Given the description of an element on the screen output the (x, y) to click on. 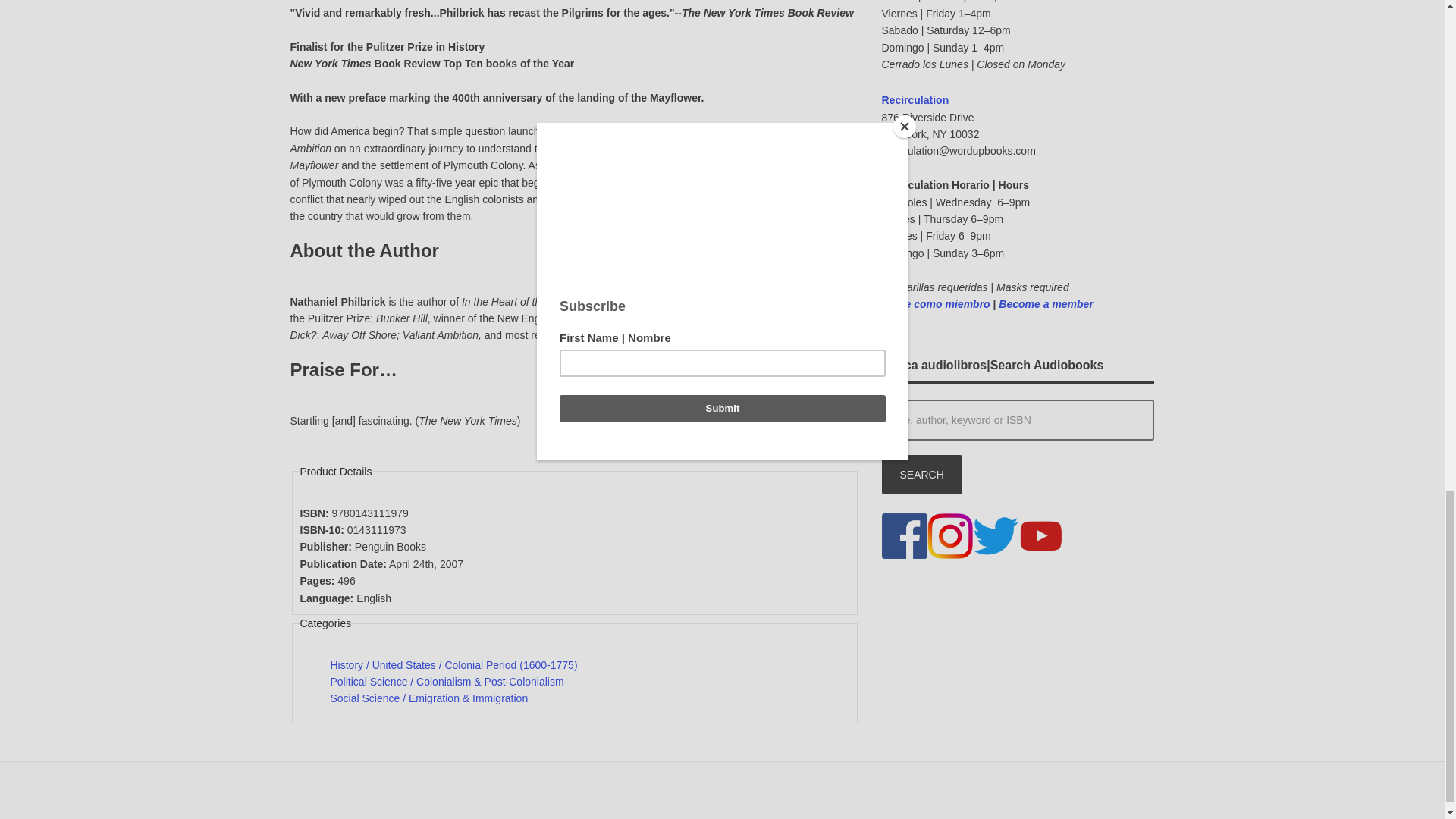
title, author, keyword or ISBN (1017, 419)
Search (920, 474)
